Given the description of an element on the screen output the (x, y) to click on. 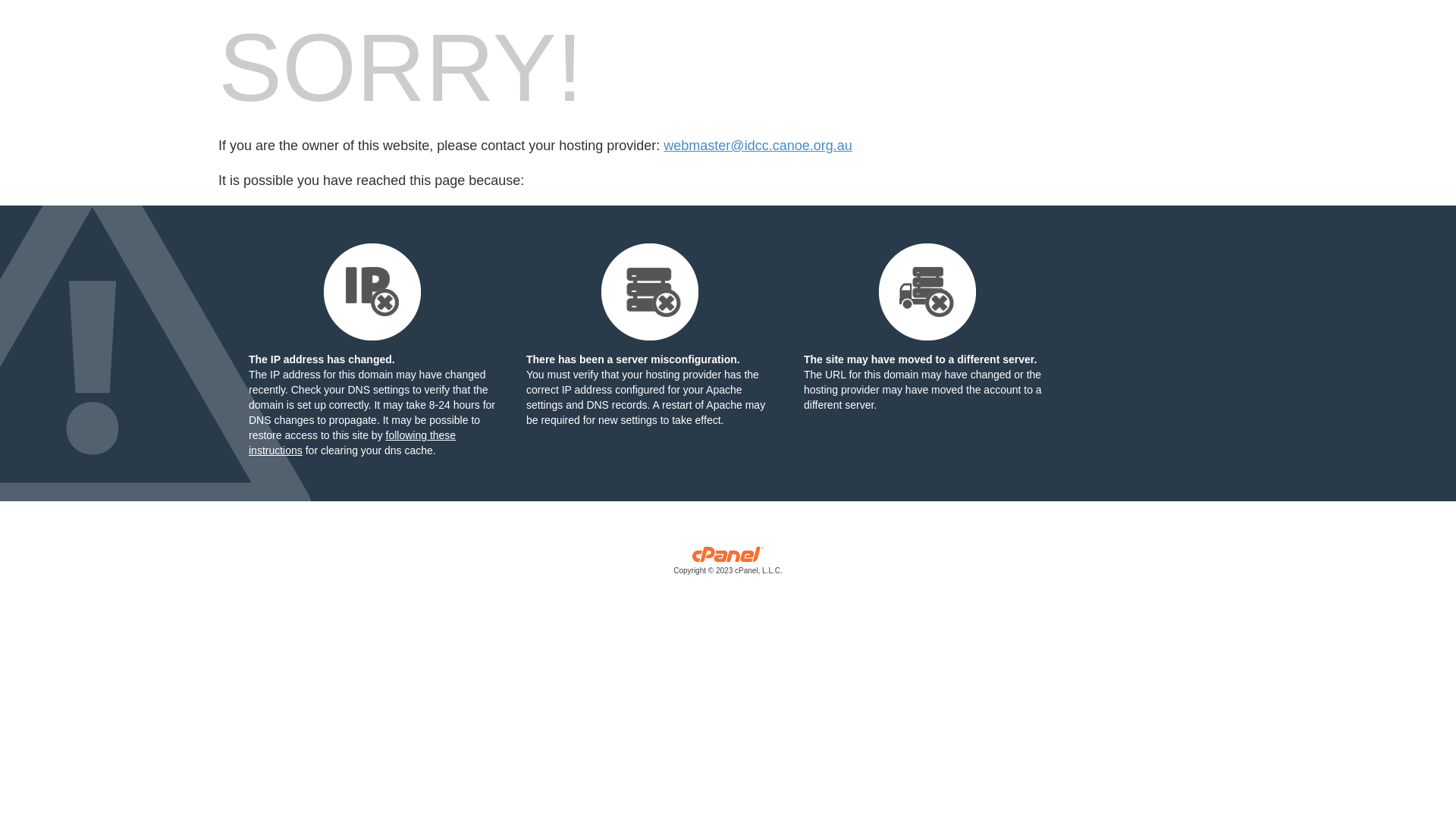
following these instructions Element type: text (351, 442)
webmaster@idcc.canoe.org.au Element type: text (757, 145)
